Given the description of an element on the screen output the (x, y) to click on. 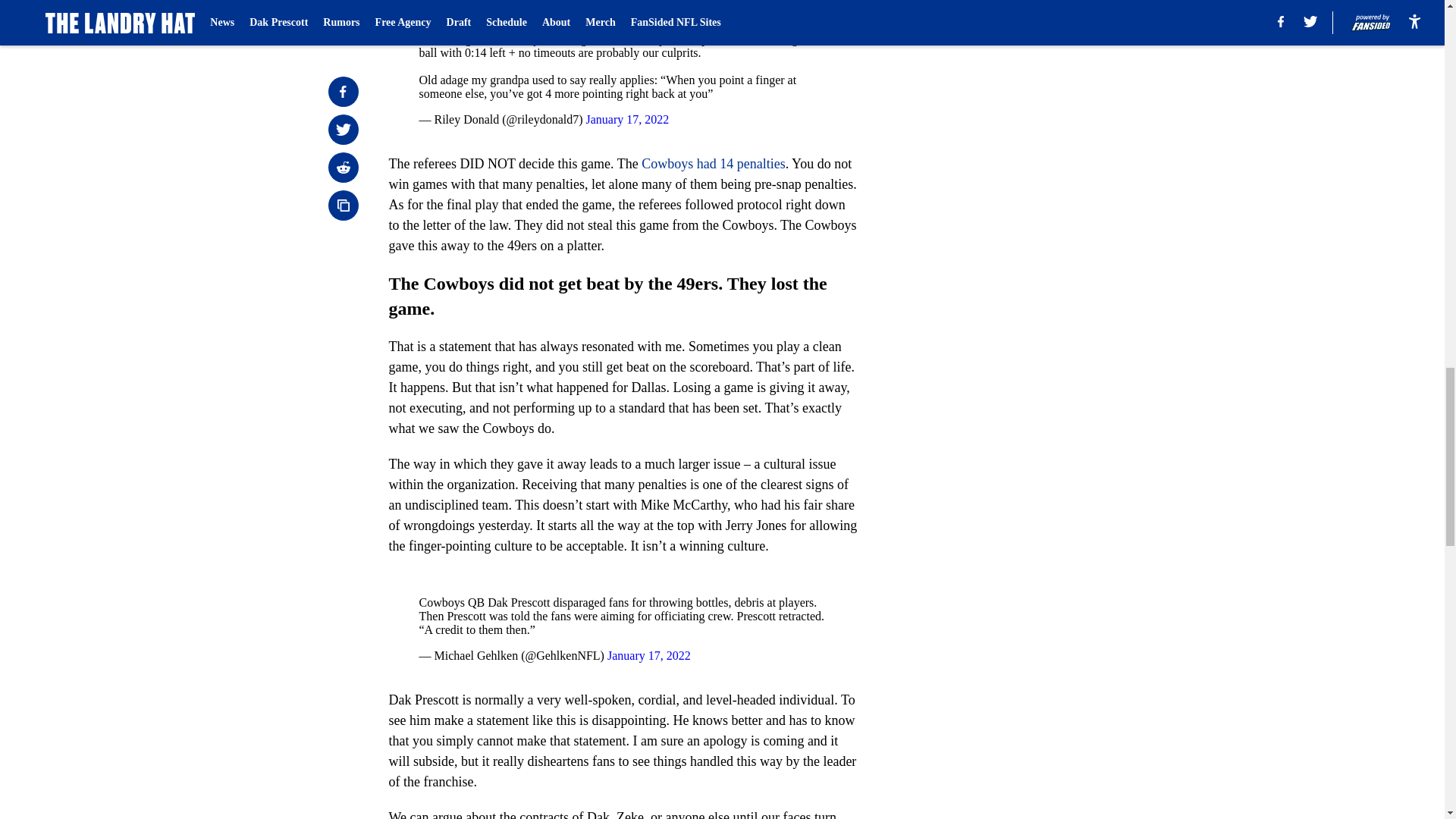
Cowboys had 14 penalties (713, 163)
January 17, 2022 (627, 119)
January 17, 2022 (648, 655)
